Given the description of an element on the screen output the (x, y) to click on. 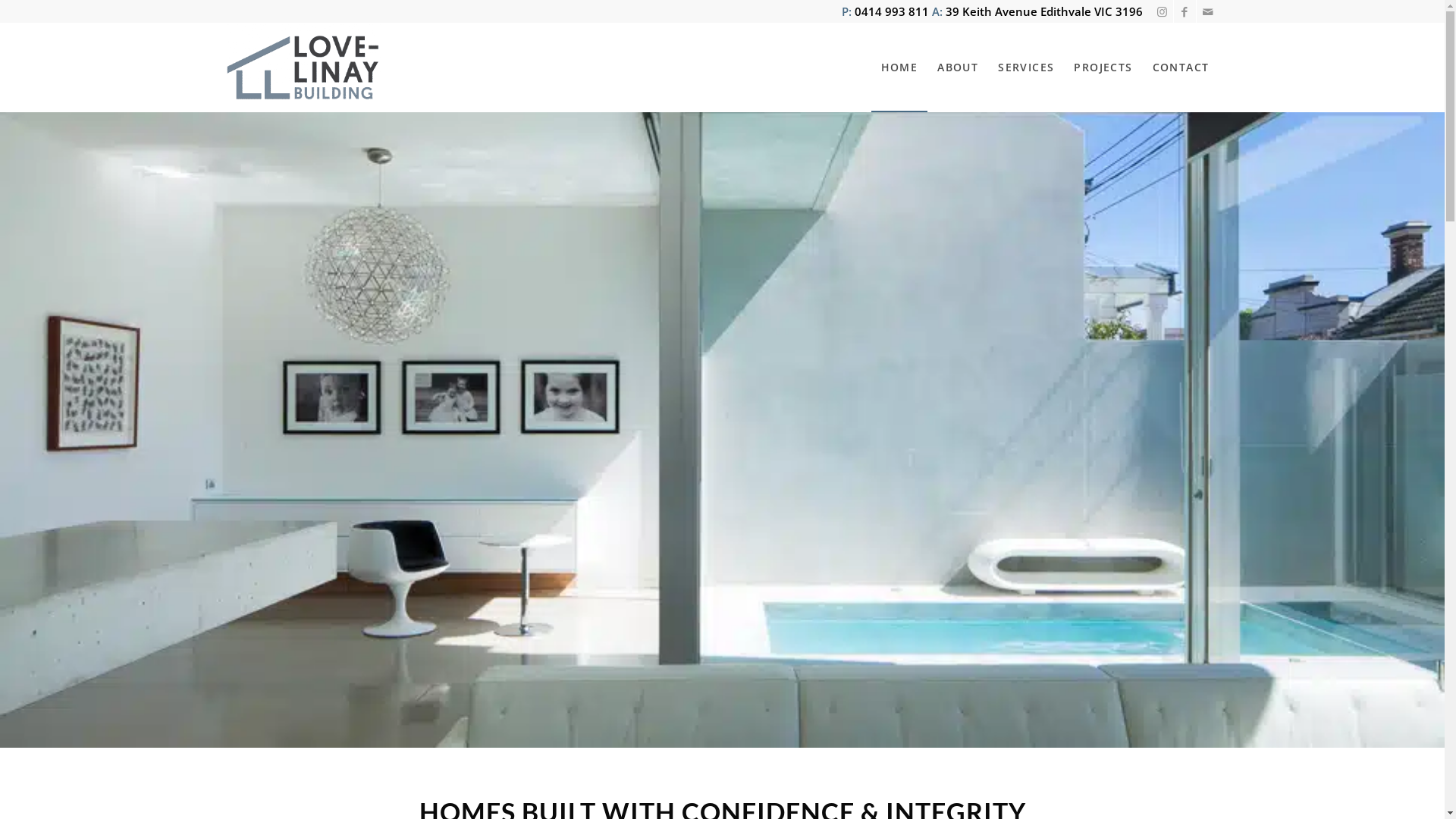
Instagram Element type: hover (1162, 11)
SERVICES Element type: text (1025, 67)
ABOUT Element type: text (957, 67)
CONTACT Element type: text (1180, 67)
Mail Element type: hover (1207, 11)
HOME Element type: text (899, 67)
PROJECTS Element type: text (1102, 67)
Facebook Element type: hover (1184, 11)
